Given the description of an element on the screen output the (x, y) to click on. 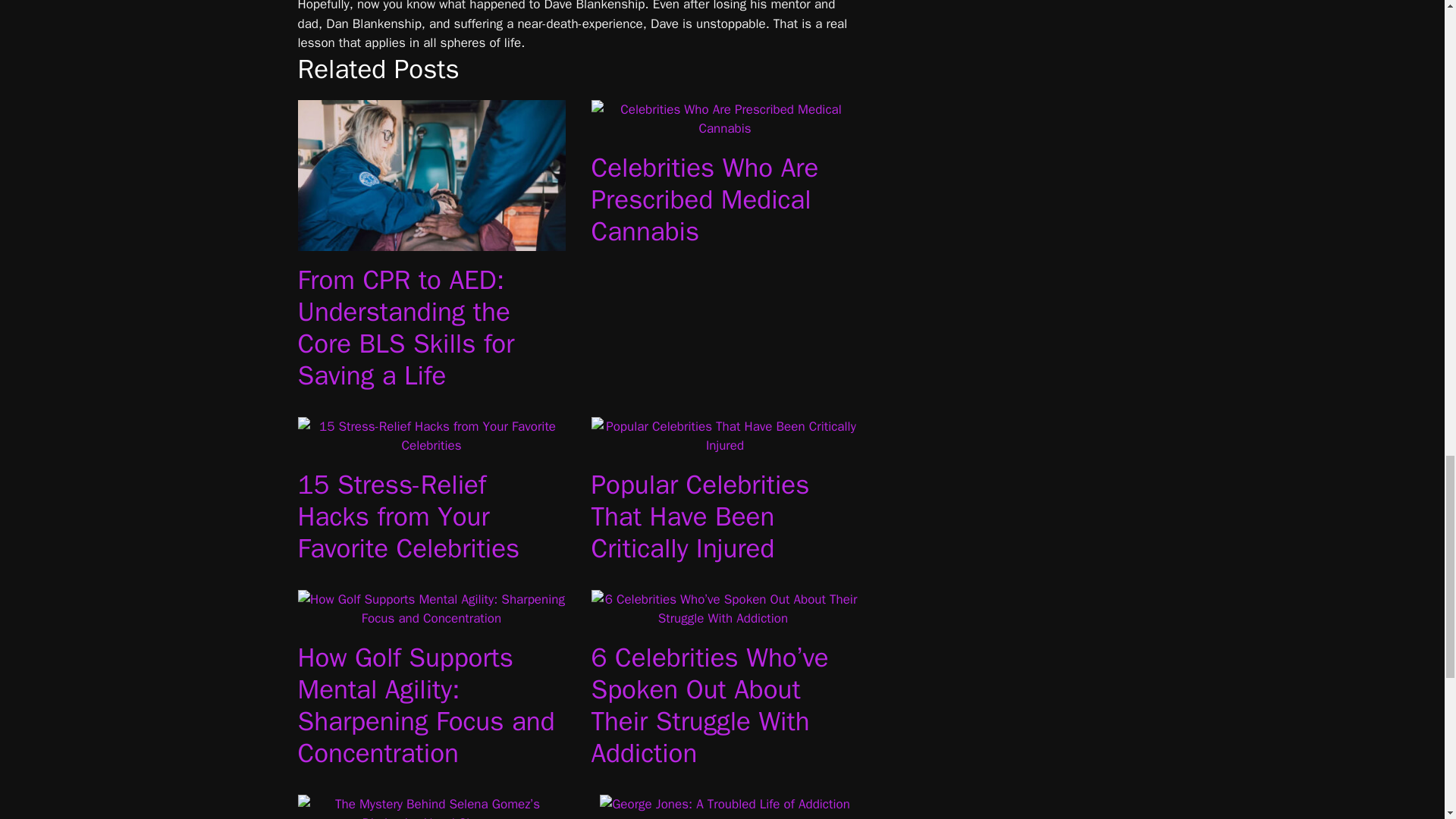
15 Stress-Relief Hacks from Your Favorite Celebrities (430, 445)
Celebrities Who Are Prescribed Medical Cannabis (704, 199)
Popular Celebrities That Have Been Critically Injured (700, 516)
15 Stress-Relief Hacks from Your Favorite Celebrities (408, 516)
Popular Celebrities That Have Been Critically Injured (725, 445)
George Jones: A Troubled Life of Addiction (724, 804)
Celebrities Who Are Prescribed Medical Cannabis (725, 128)
